Given the description of an element on the screen output the (x, y) to click on. 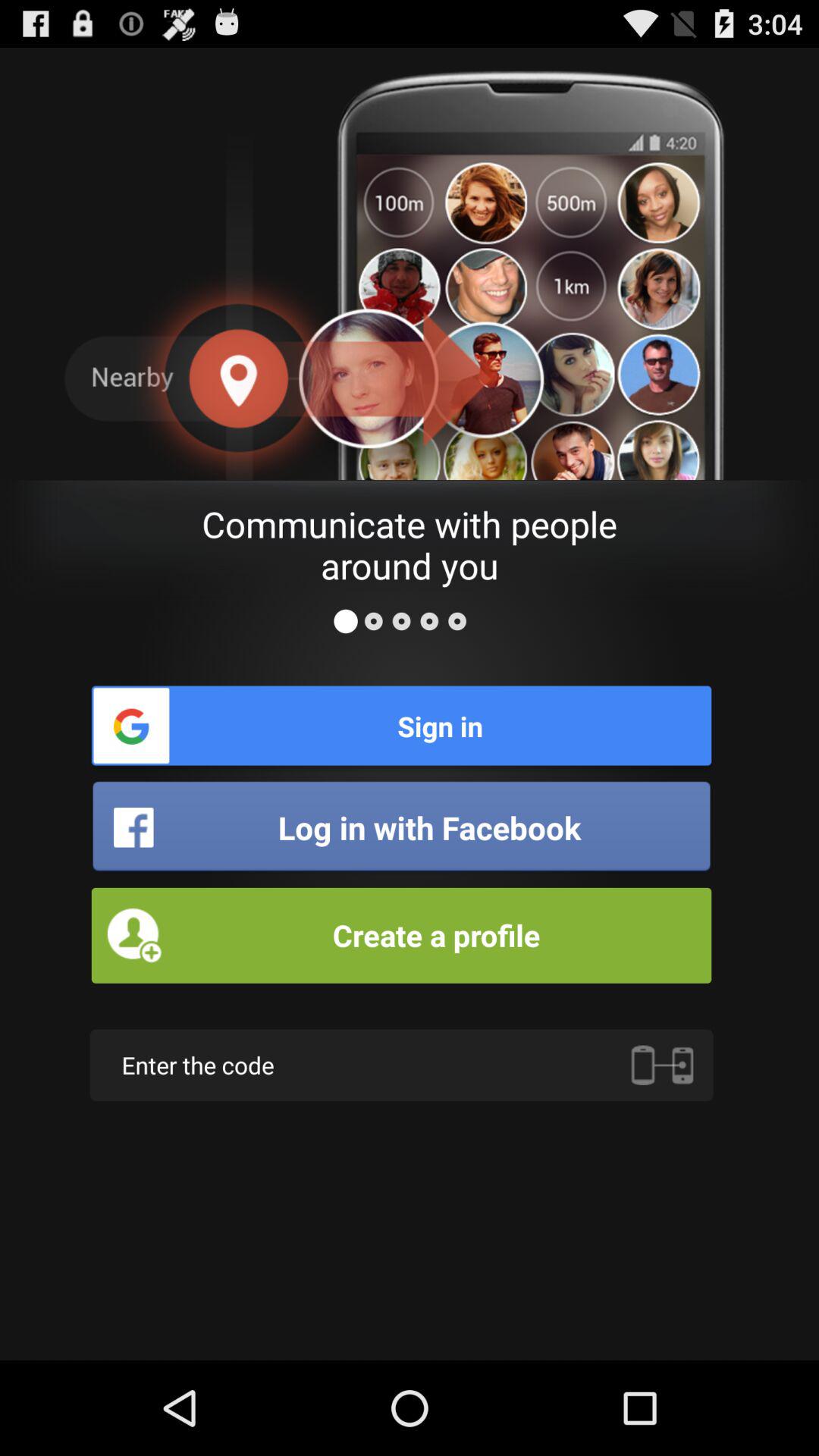
select icon at the bottom right corner (662, 1065)
